Given the description of an element on the screen output the (x, y) to click on. 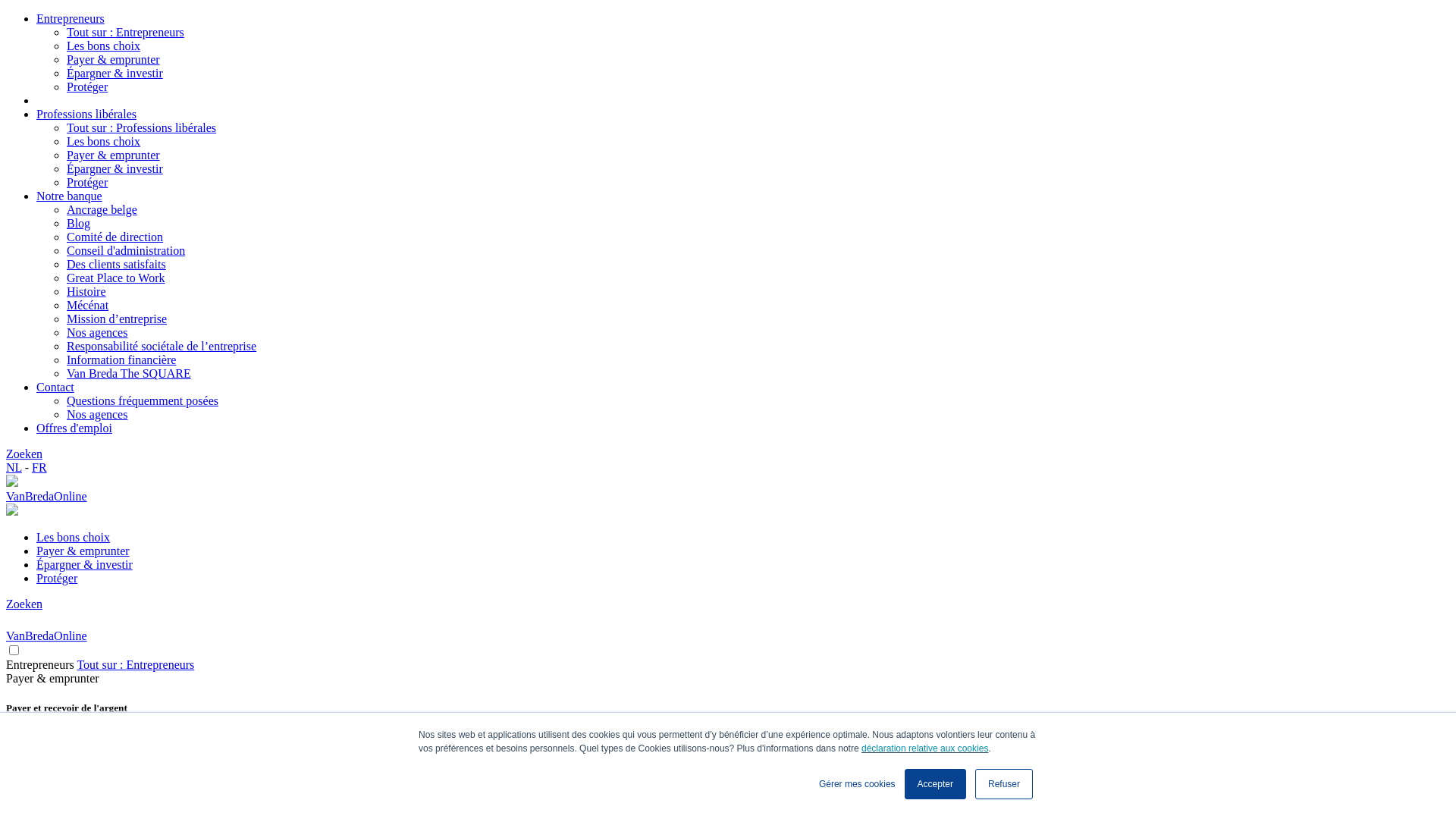
FR Element type: text (39, 467)
Banque en ligne Element type: text (75, 791)
Les bons choix Element type: text (103, 45)
Zoeken Element type: text (24, 603)
Great Place to Work Element type: text (115, 277)
Tout sur : Entrepreneurs Element type: text (135, 664)
Les bons choix Element type: text (72, 536)
Refuser Element type: text (1003, 783)
Zoeken Element type: text (24, 453)
Des clients satisfaits Element type: text (116, 263)
Payer & emprunter Element type: text (113, 59)
VanBredaOnline Element type: text (727, 629)
Contact Element type: text (55, 386)
Accepter Element type: text (935, 783)
VanBredaOnline Element type: text (727, 489)
NL Element type: text (13, 467)
Notre banque Element type: text (69, 195)
Nos agences Element type: text (96, 332)
Histoire Element type: text (86, 291)
Entrepreneurs Element type: text (70, 18)
Conseil d'administration Element type: text (125, 250)
Offres d'emploi Element type: text (74, 427)
Tout sur : Entrepreneurs Element type: text (125, 31)
Entrepreneurs Element type: text (40, 664)
Nos agences Element type: text (96, 413)
Blog Element type: text (78, 222)
Application VanBredaOnline Element type: text (106, 805)
Payer & emprunter Element type: text (113, 154)
Van Breda The SQUARE Element type: text (128, 373)
Ancrage belge Element type: text (101, 209)
Domiciliation Element type: text (69, 777)
Ordre permanent Element type: text (77, 764)
Les bons choix Element type: text (103, 140)
Payer & emprunter Element type: text (82, 550)
